Given the description of an element on the screen output the (x, y) to click on. 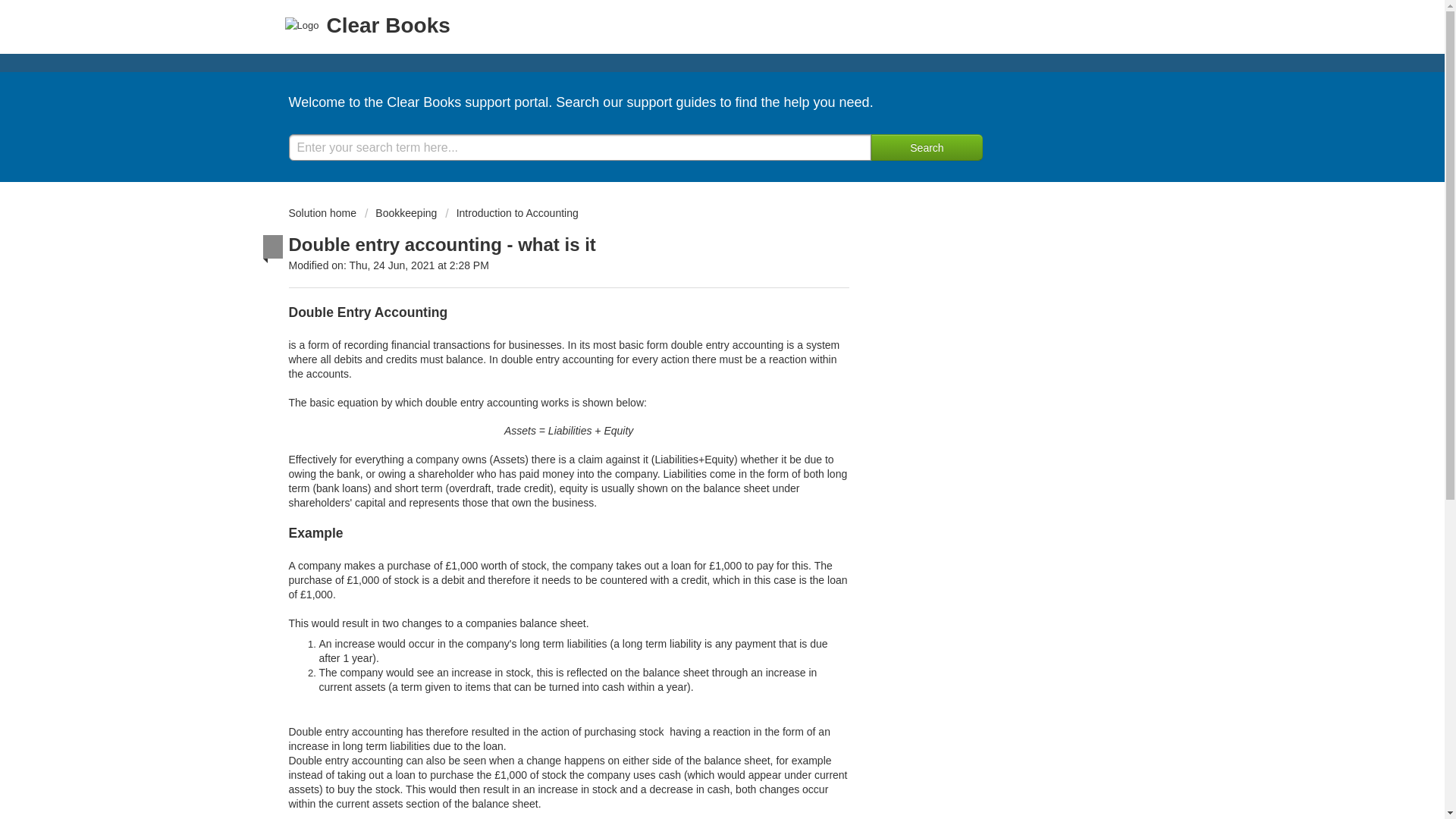
Bookkeeping (400, 213)
Solution home (323, 213)
Print this Article (609, 242)
Search (925, 147)
Introduction to Accounting (511, 213)
